Given the description of an element on the screen output the (x, y) to click on. 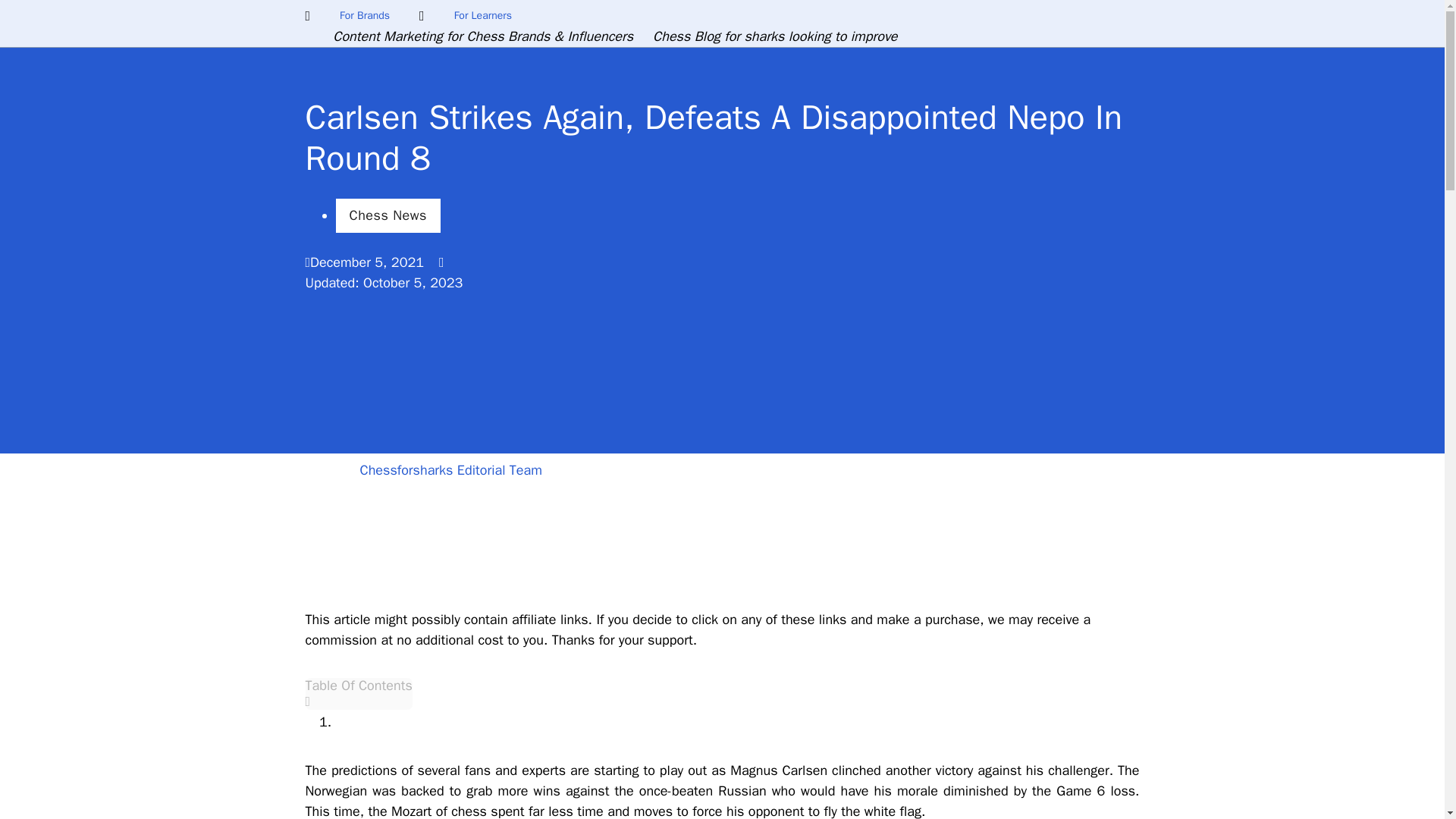
Table Of Contents (358, 693)
For Brands (364, 15)
For Learners (482, 15)
Chessforsharks Editorial Team (450, 469)
Chess News (386, 215)
